Given the description of an element on the screen output the (x, y) to click on. 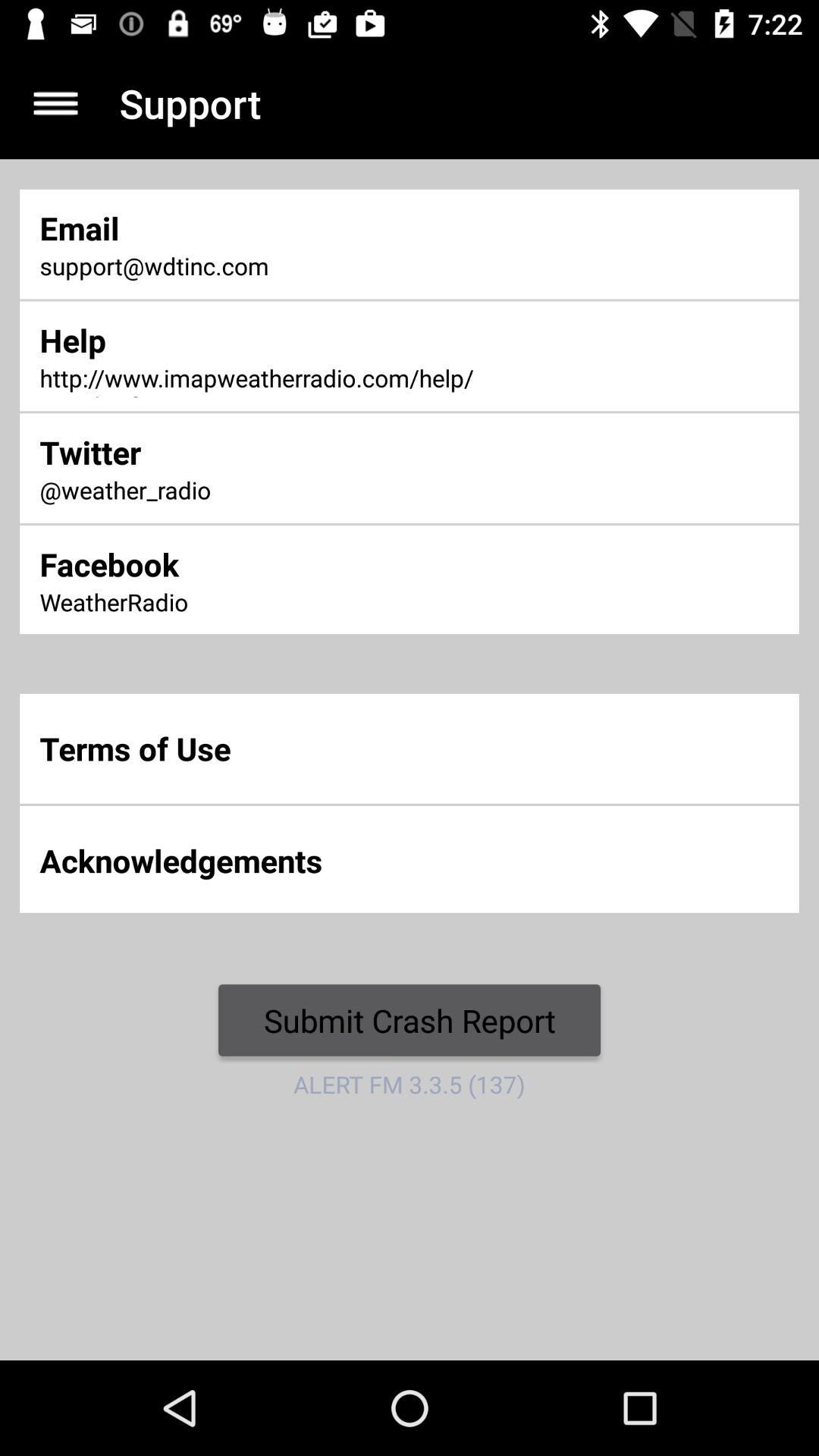
press item above support@wdtinc.com icon (272, 227)
